Given the description of an element on the screen output the (x, y) to click on. 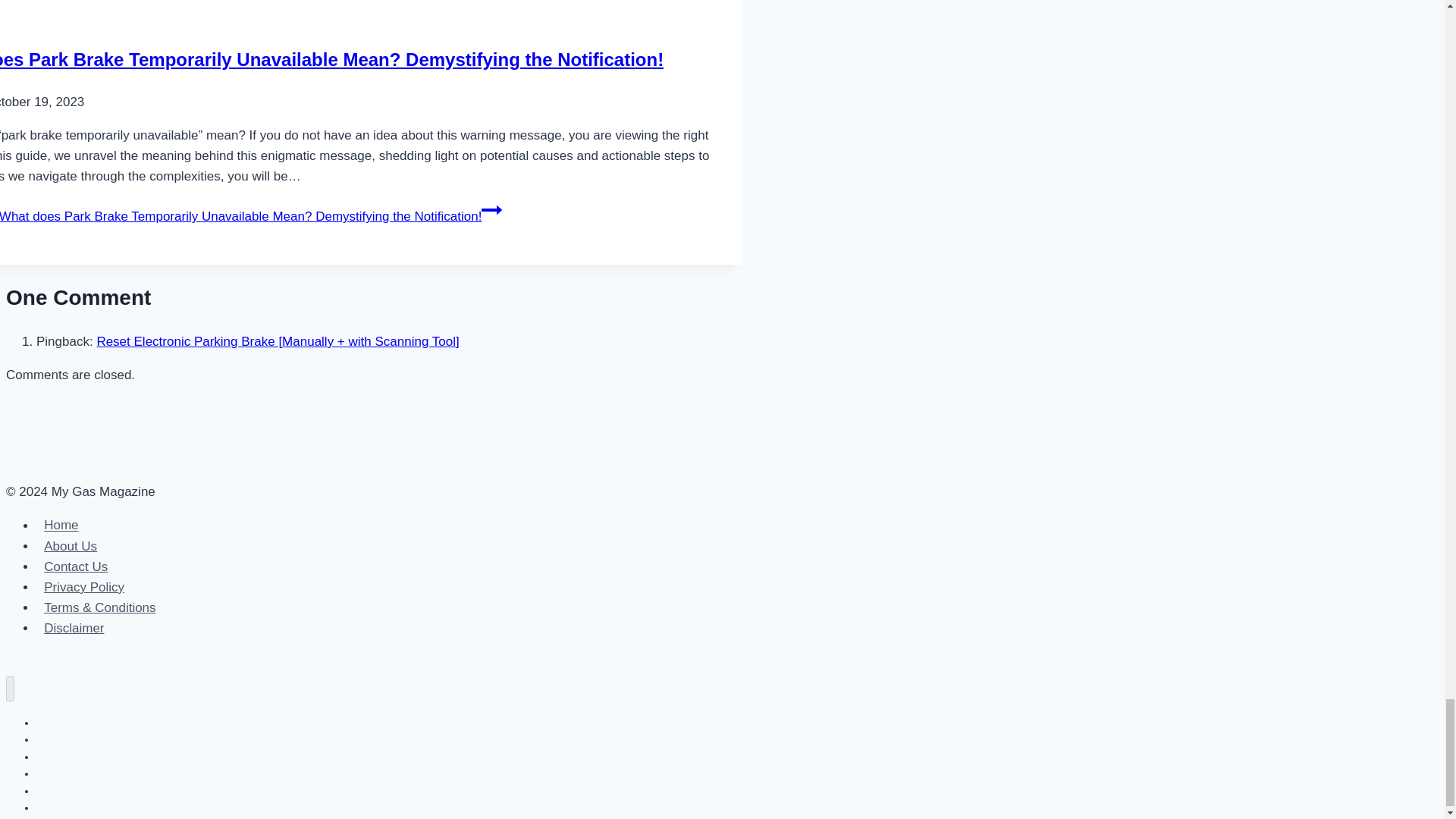
Continue (491, 209)
